Given the description of an element on the screen output the (x, y) to click on. 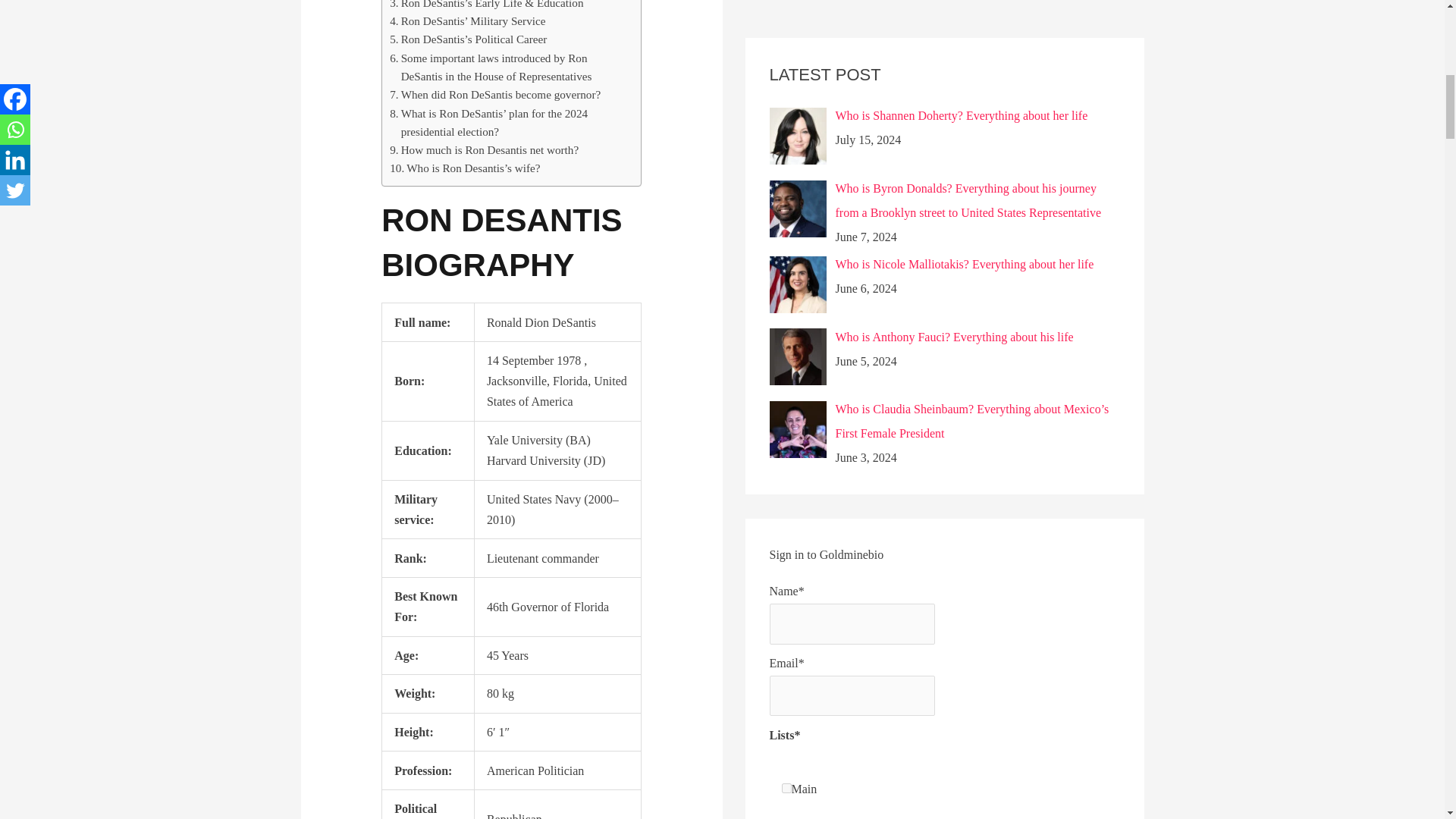
Subscribe (833, 227)
When did Ron DeSantis become governor? (494, 94)
How much is Ron Desantis net worth? (484, 149)
4199f9529797 (785, 168)
